Given the description of an element on the screen output the (x, y) to click on. 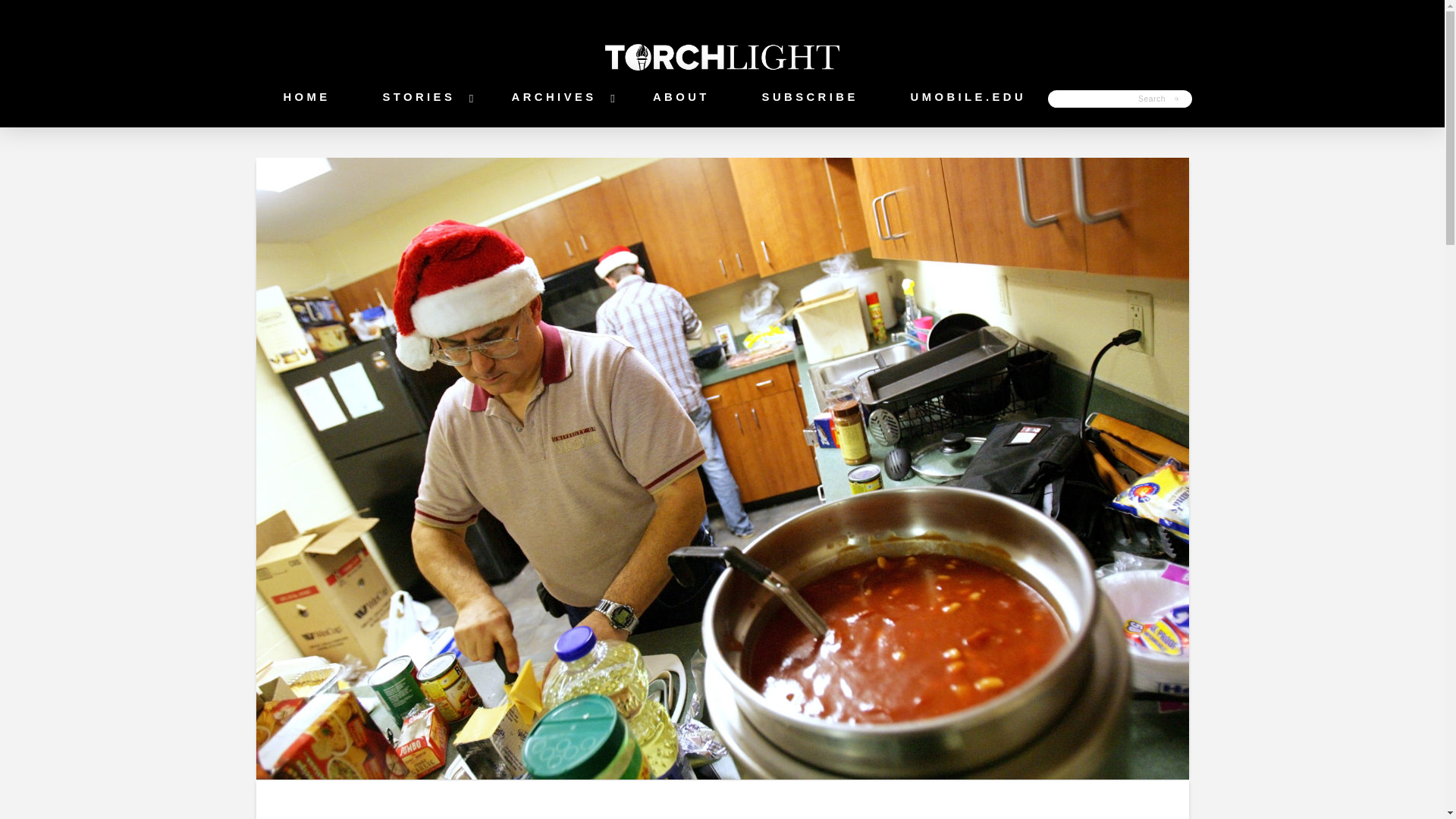
ARCHIVES (550, 98)
UMOBILE.EDU (962, 98)
STORIES (416, 98)
SUBSCRIBE (804, 98)
ABOUT (677, 98)
HOME (301, 98)
